Given the description of an element on the screen output the (x, y) to click on. 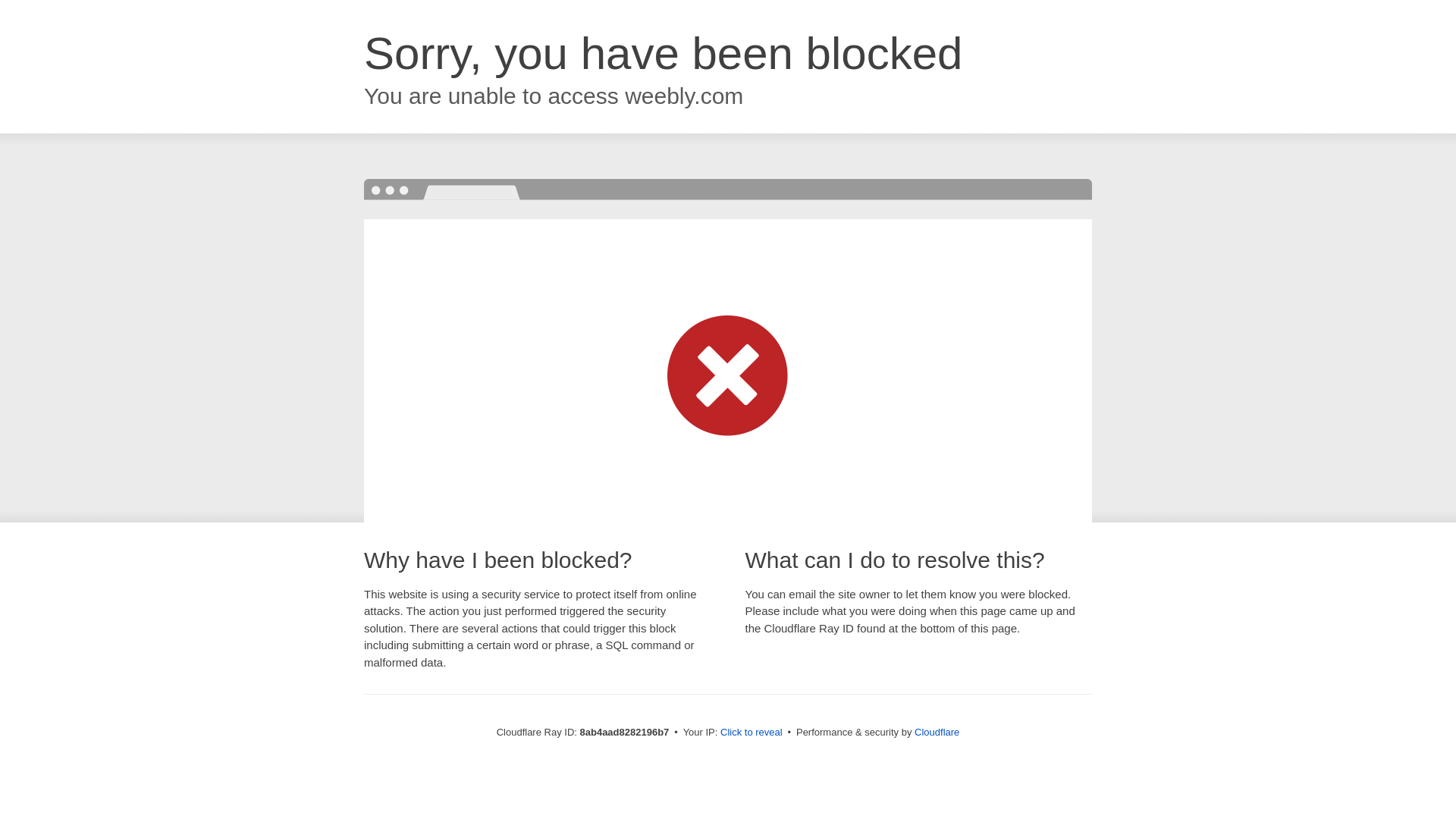
Cloudflare (936, 731)
Click to reveal (751, 732)
